Given the description of an element on the screen output the (x, y) to click on. 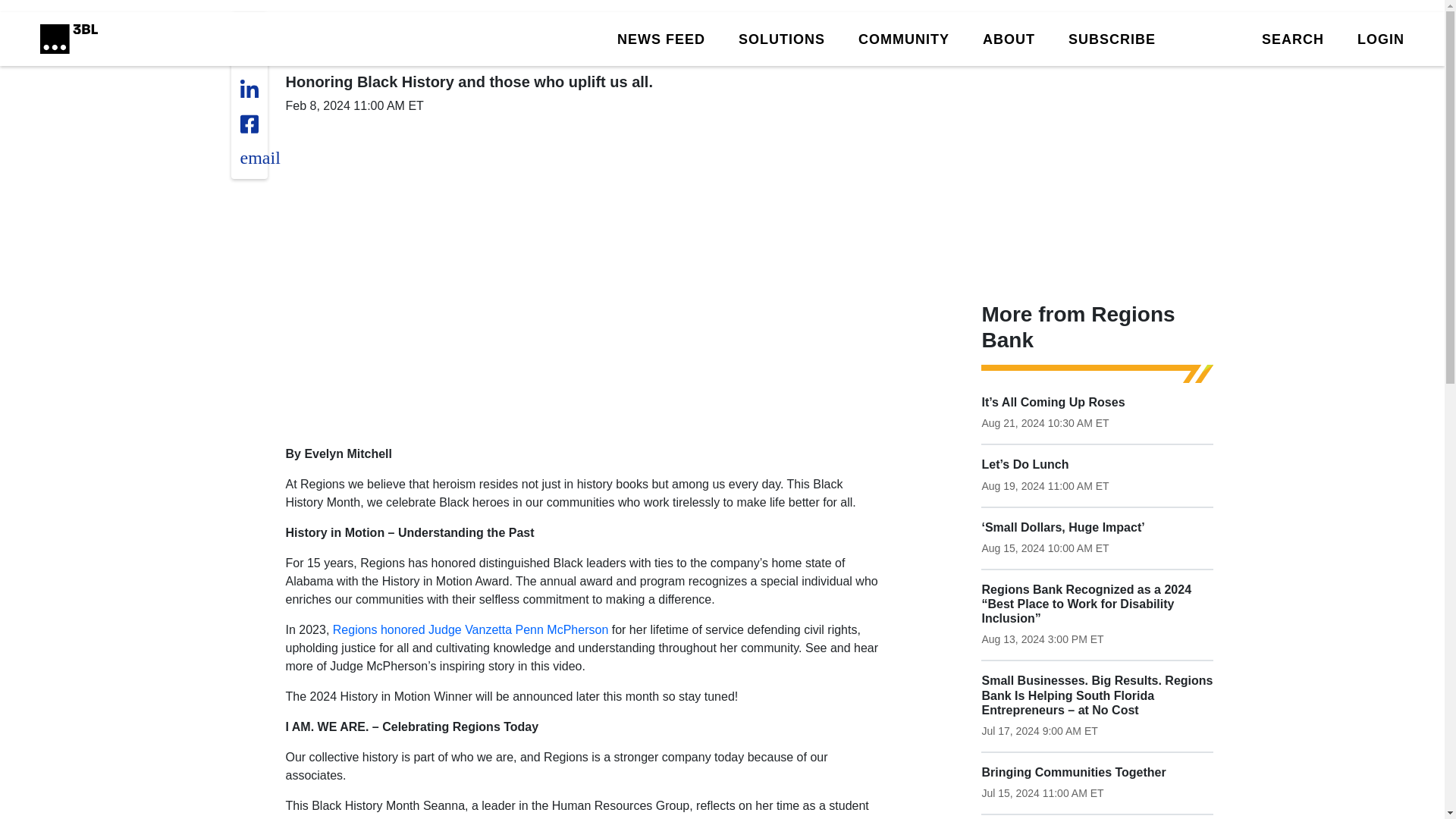
link to 3 B L Media's Twitter (253, 33)
COMMUNITY (904, 38)
ABOUT (1008, 38)
NEWS FEED (660, 38)
SUBSCRIBE (1112, 38)
SOLUTIONS (781, 38)
Share via email (259, 157)
